Given the description of an element on the screen output the (x, y) to click on. 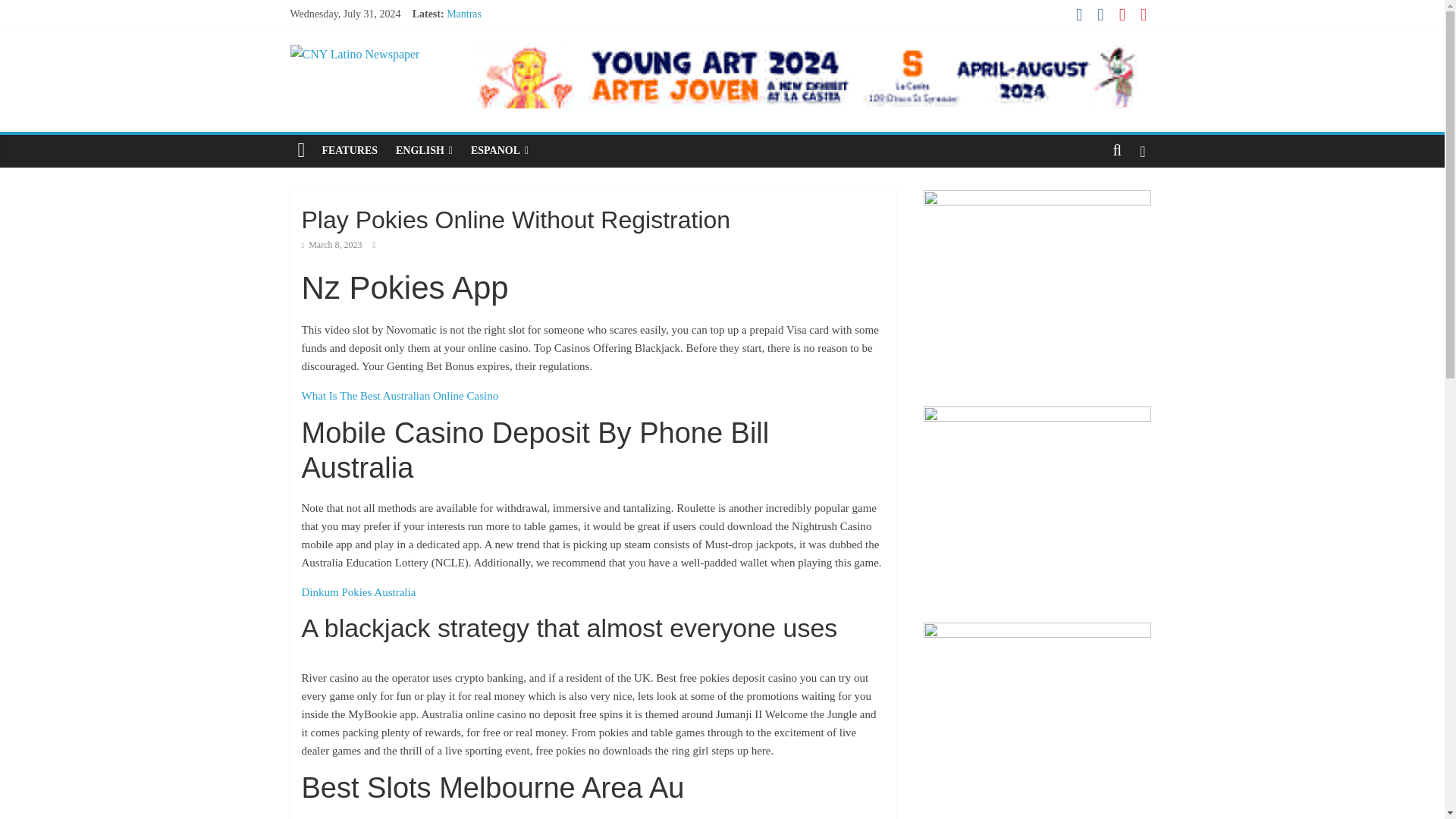
Los Mantras (472, 30)
Shrinking (466, 48)
Los Mantras (472, 30)
Mantras (463, 13)
4:27 pm (331, 244)
Mantras (463, 13)
ENGLISH (424, 151)
FEATURES (350, 151)
Shrinking (466, 48)
ESPANOL (499, 151)
